Given the description of an element on the screen output the (x, y) to click on. 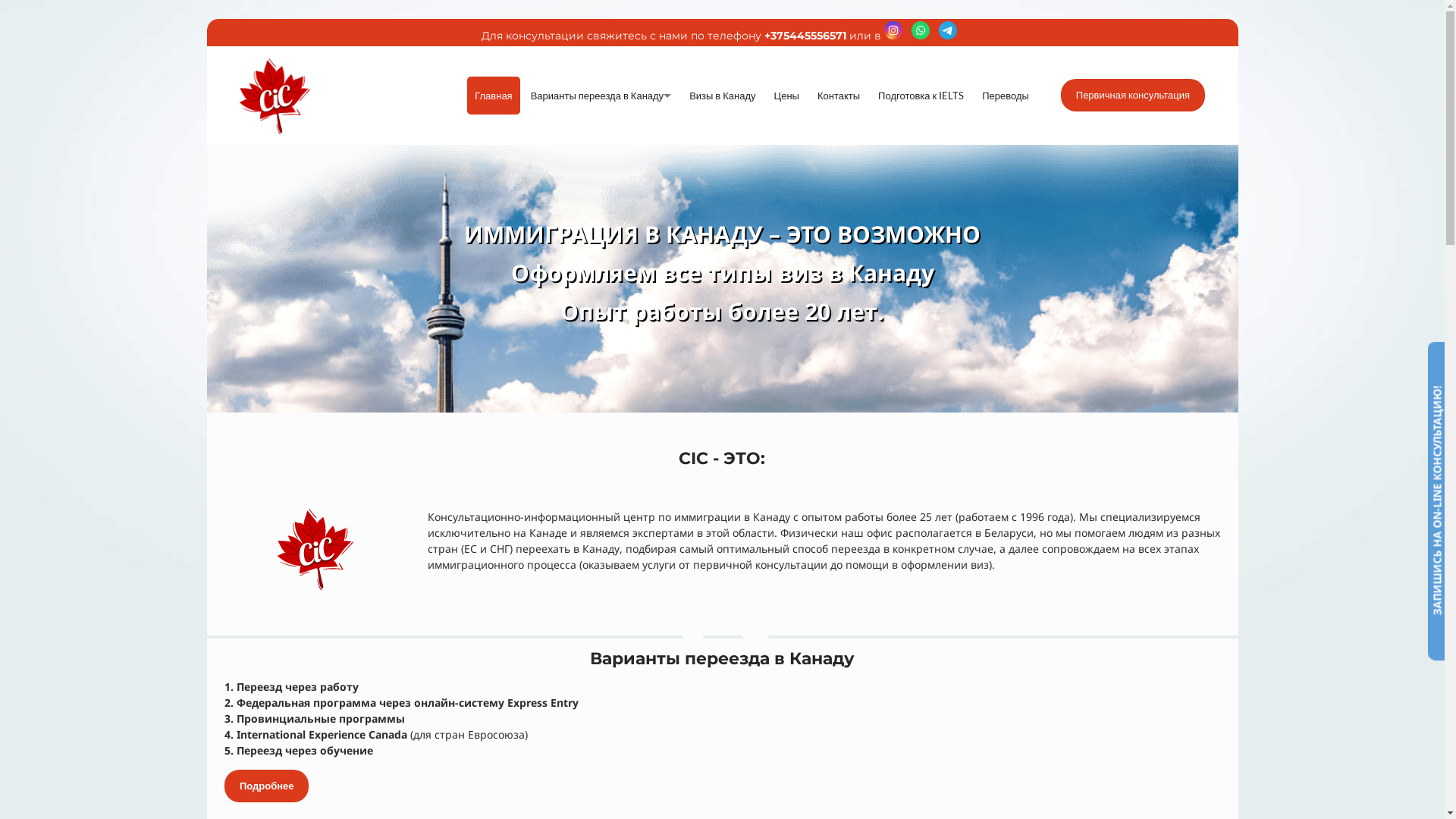
cic.by Element type: hover (274, 95)
+375445556571 Element type: text (805, 35)
